Given the description of an element on the screen output the (x, y) to click on. 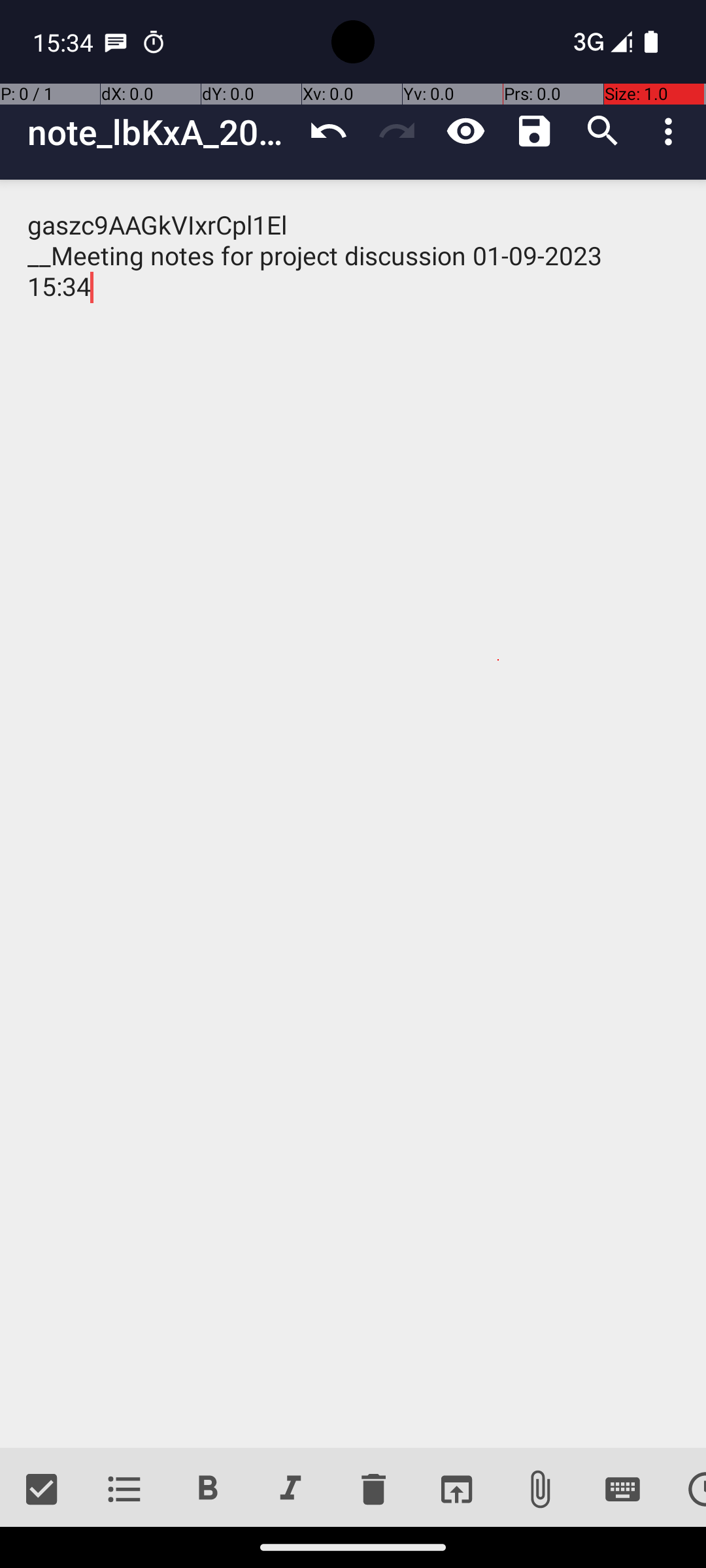
note_lbKxA_2023_01_09 Element type: android.widget.TextView (160, 131)
gaszc9AAGkVIxrCpl1El
__Meeting notes for project discussion 01-09-2023
15:34 Element type: android.widget.EditText (353, 813)
